Given the description of an element on the screen output the (x, y) to click on. 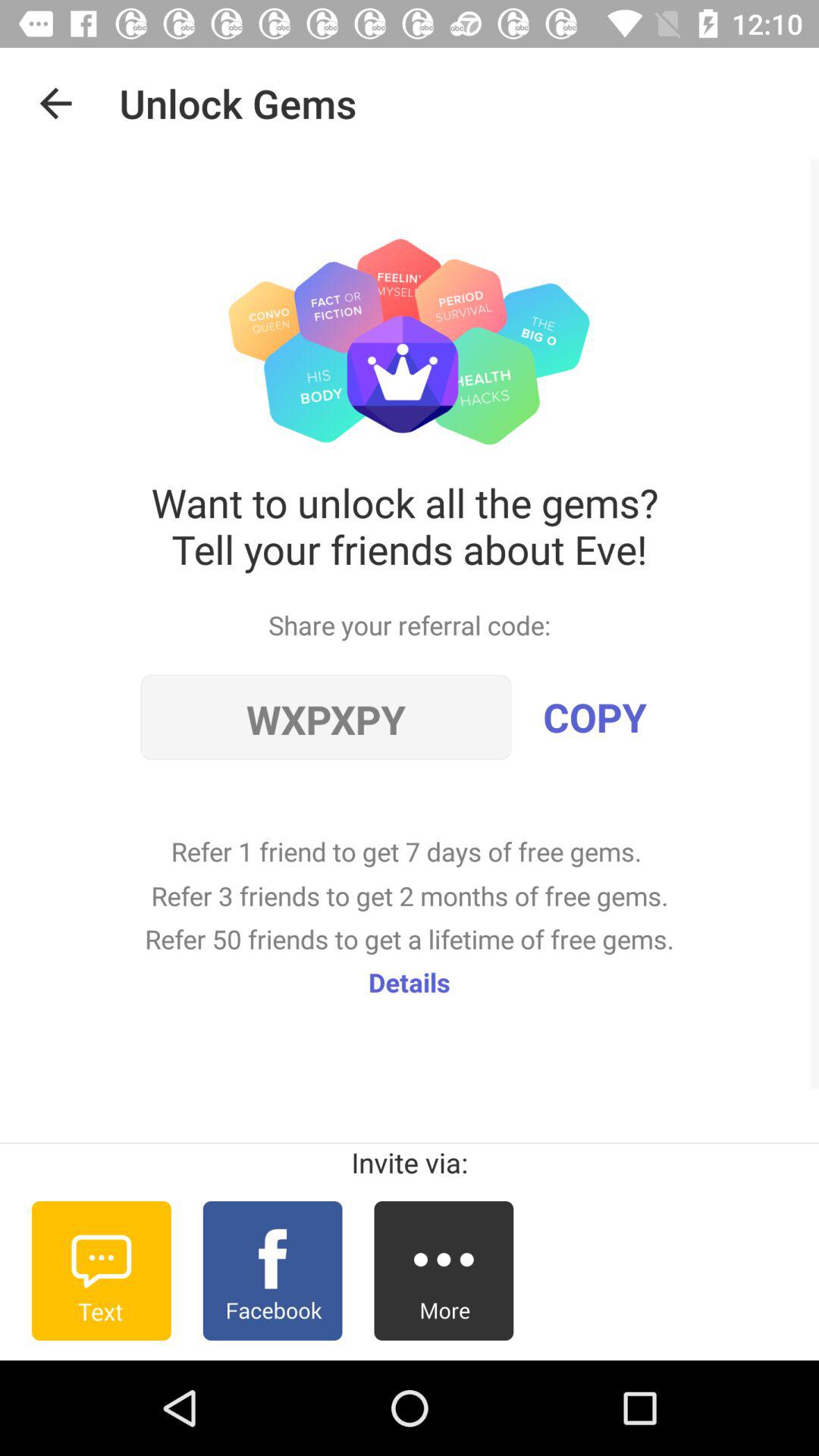
view more options (443, 1270)
